Given the description of an element on the screen output the (x, y) to click on. 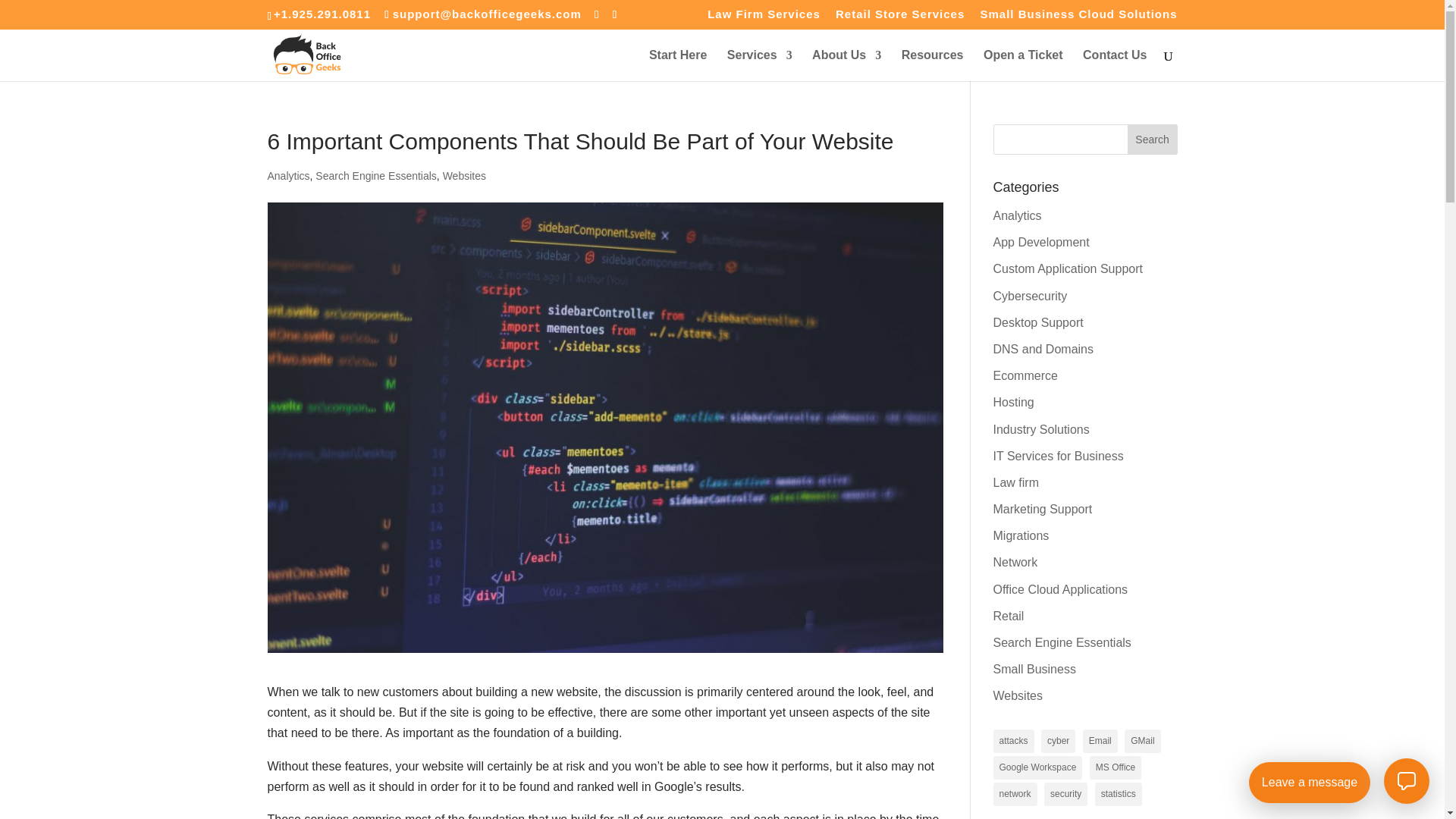
Open a Ticket (1023, 65)
Small Business Cloud Solutions (1077, 17)
Search (1151, 139)
Law Firm Services (764, 17)
Resources (932, 65)
Contact Us (1115, 65)
Start Here (677, 65)
Retail Store Services (899, 17)
Services (759, 65)
About Us (846, 65)
